Given the description of an element on the screen output the (x, y) to click on. 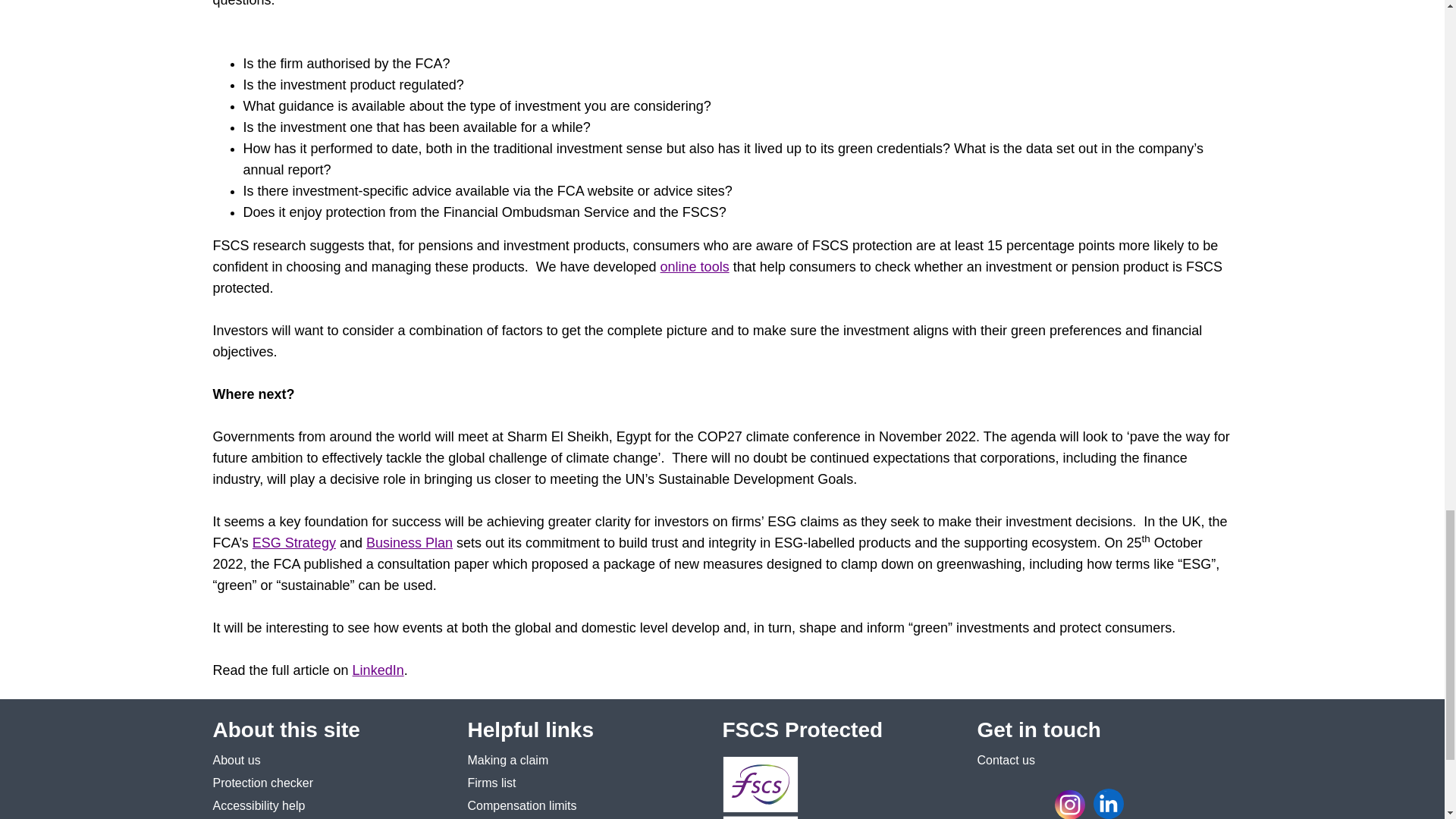
FSCS Facebook page link (991, 803)
FSCS podcast news page link (1149, 803)
Link opens in the same window (521, 805)
FSCS Linkedin page link (1108, 803)
FSCS Linkedin page link (1110, 803)
Link opens in the same window (236, 759)
FSCS Facebook page link (993, 803)
Link opens in a new windiw (507, 759)
FSCS Podcast page link (1146, 803)
Link opens in the same window (491, 782)
